Given the description of an element on the screen output the (x, y) to click on. 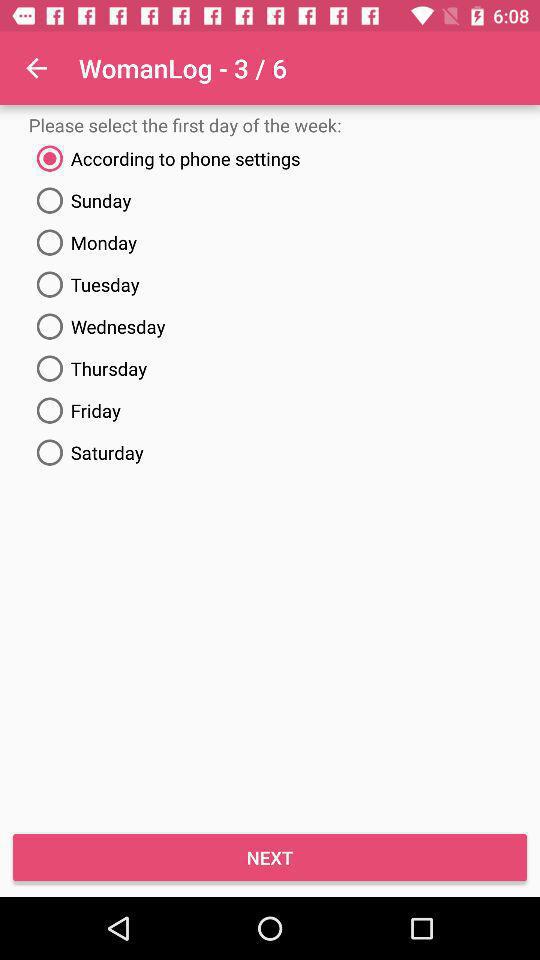
choose app next to womanlog - 3 / 6 (36, 68)
